Given the description of an element on the screen output the (x, y) to click on. 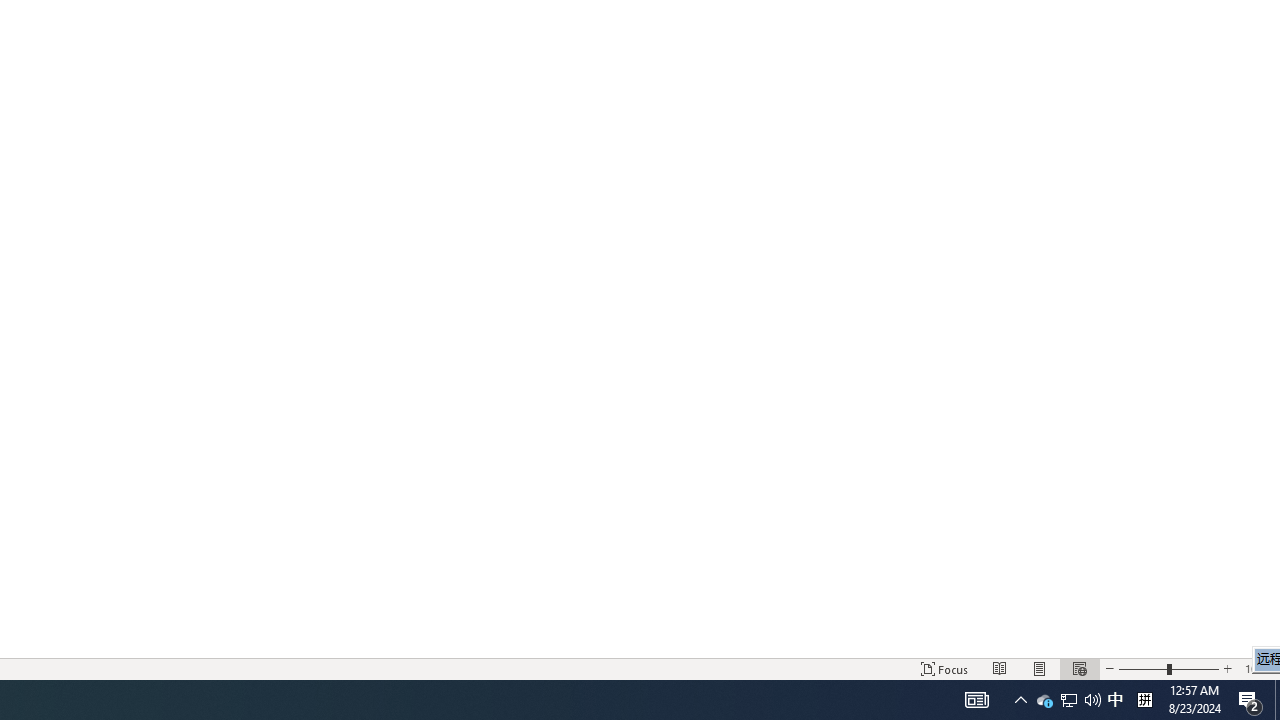
Zoom 100% (1258, 668)
